Given the description of an element on the screen output the (x, y) to click on. 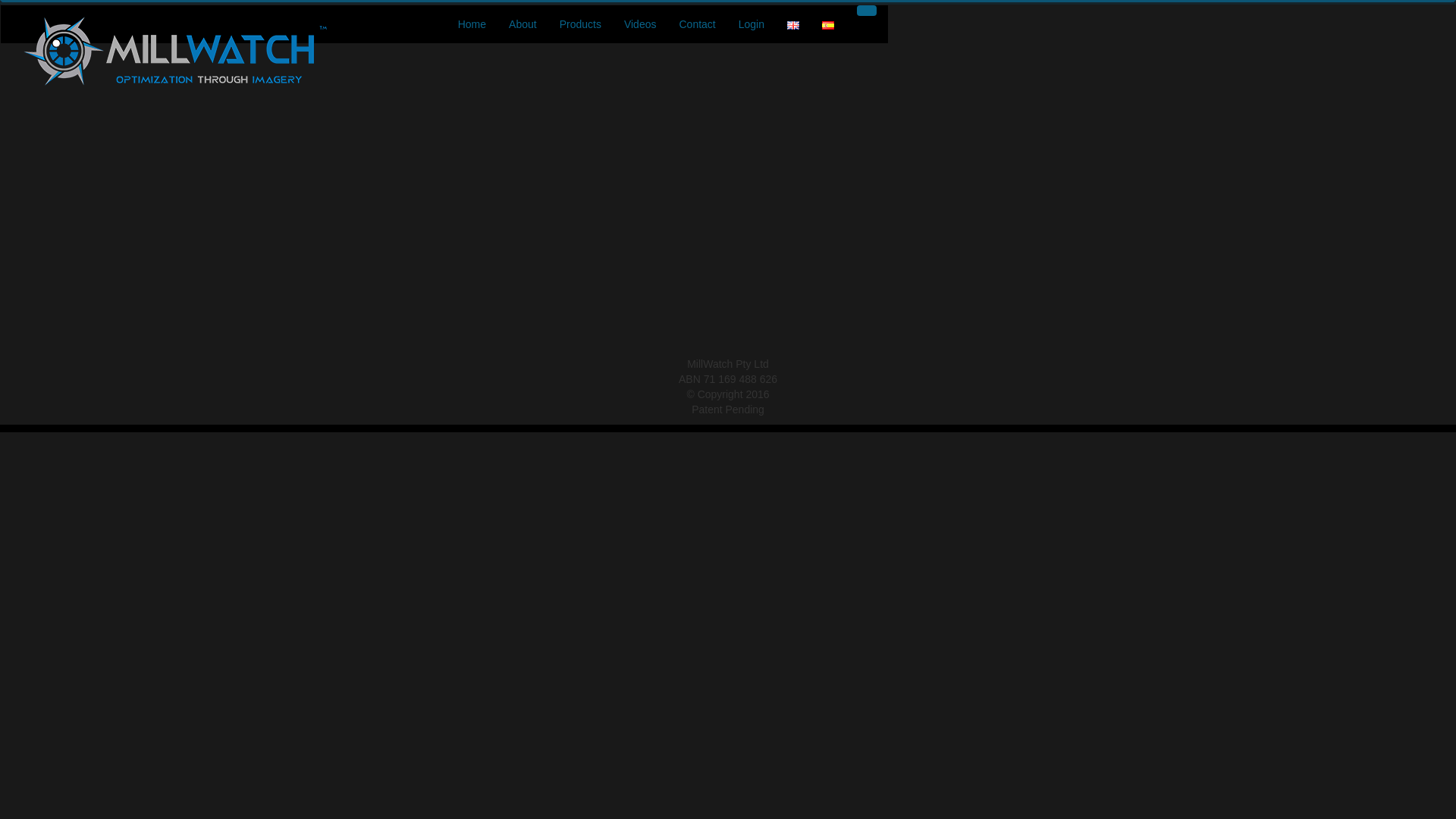
About Element type: text (522, 24)
Products Element type: text (580, 24)
Home Element type: text (471, 24)
Login Element type: text (751, 24)
English Element type: hover (793, 25)
Contact Element type: text (696, 24)
Videos Element type: text (640, 24)
